Given the description of an element on the screen output the (x, y) to click on. 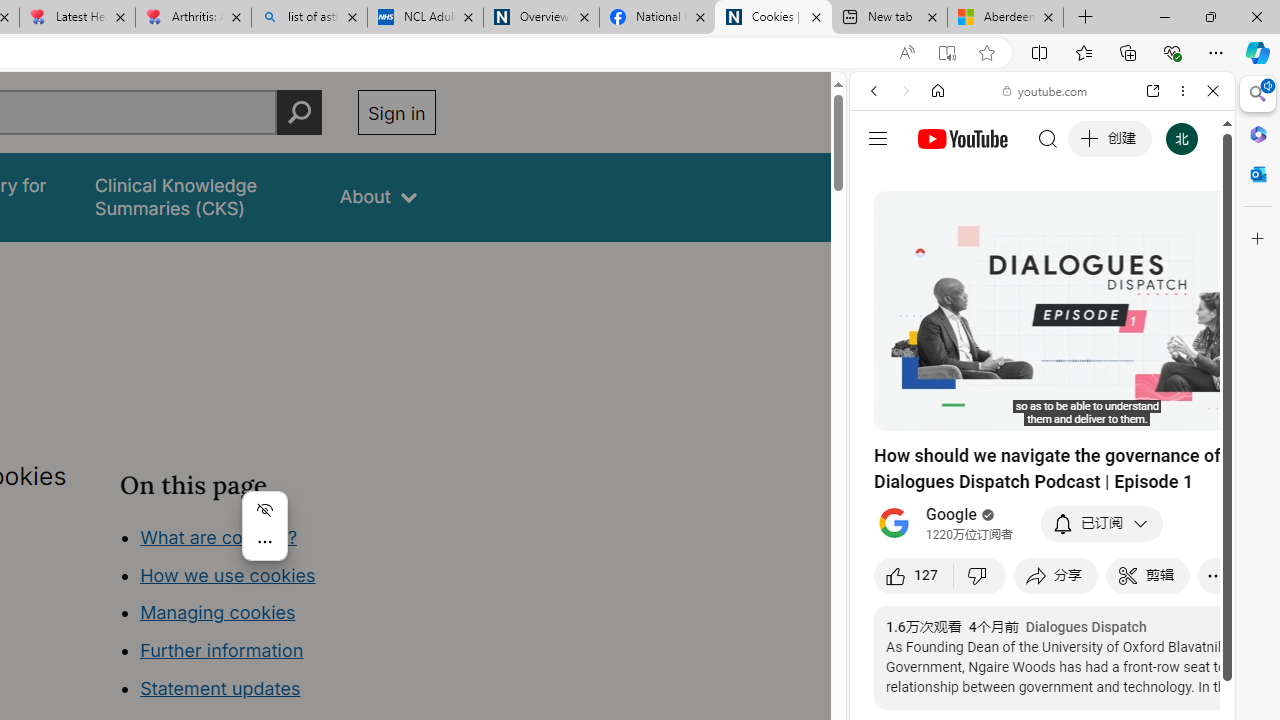
Hide menu (264, 509)
